Given the description of an element on the screen output the (x, y) to click on. 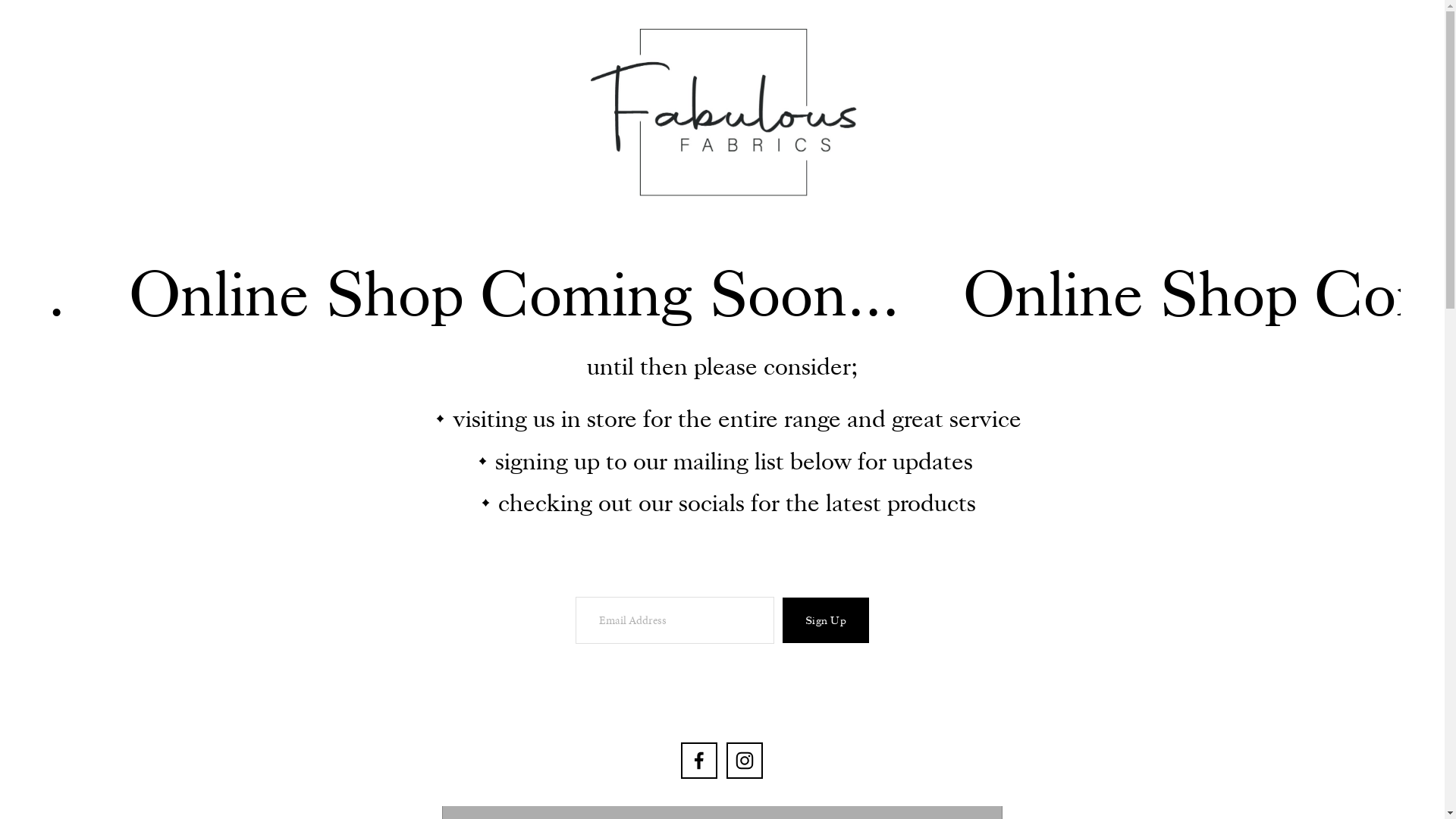
Sign Up Element type: text (825, 620)
